Given the description of an element on the screen output the (x, y) to click on. 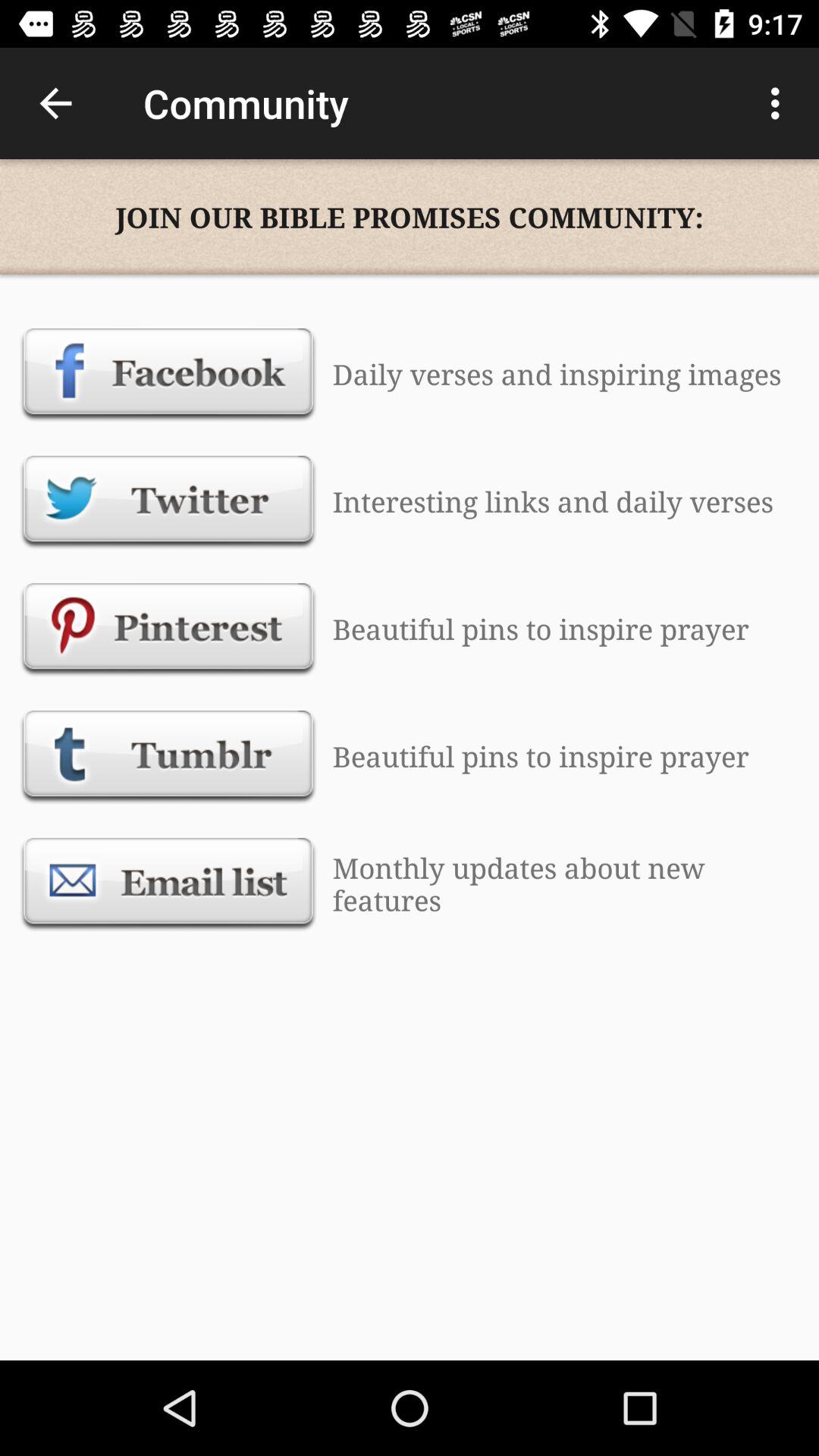
select item next to the community (779, 103)
